Given the description of an element on the screen output the (x, y) to click on. 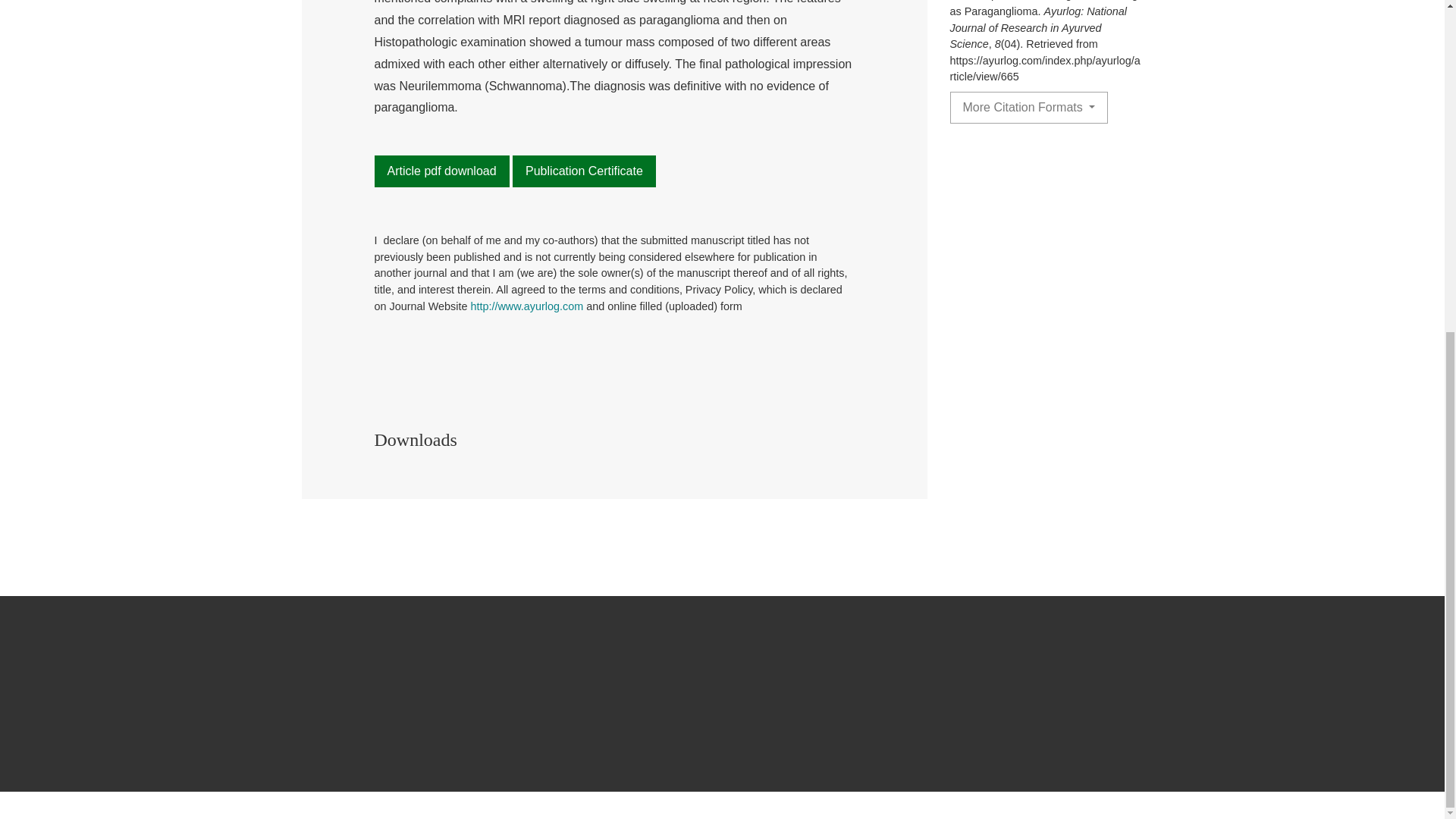
Copyright form (526, 306)
More Citation Formats (1028, 107)
